Given the description of an element on the screen output the (x, y) to click on. 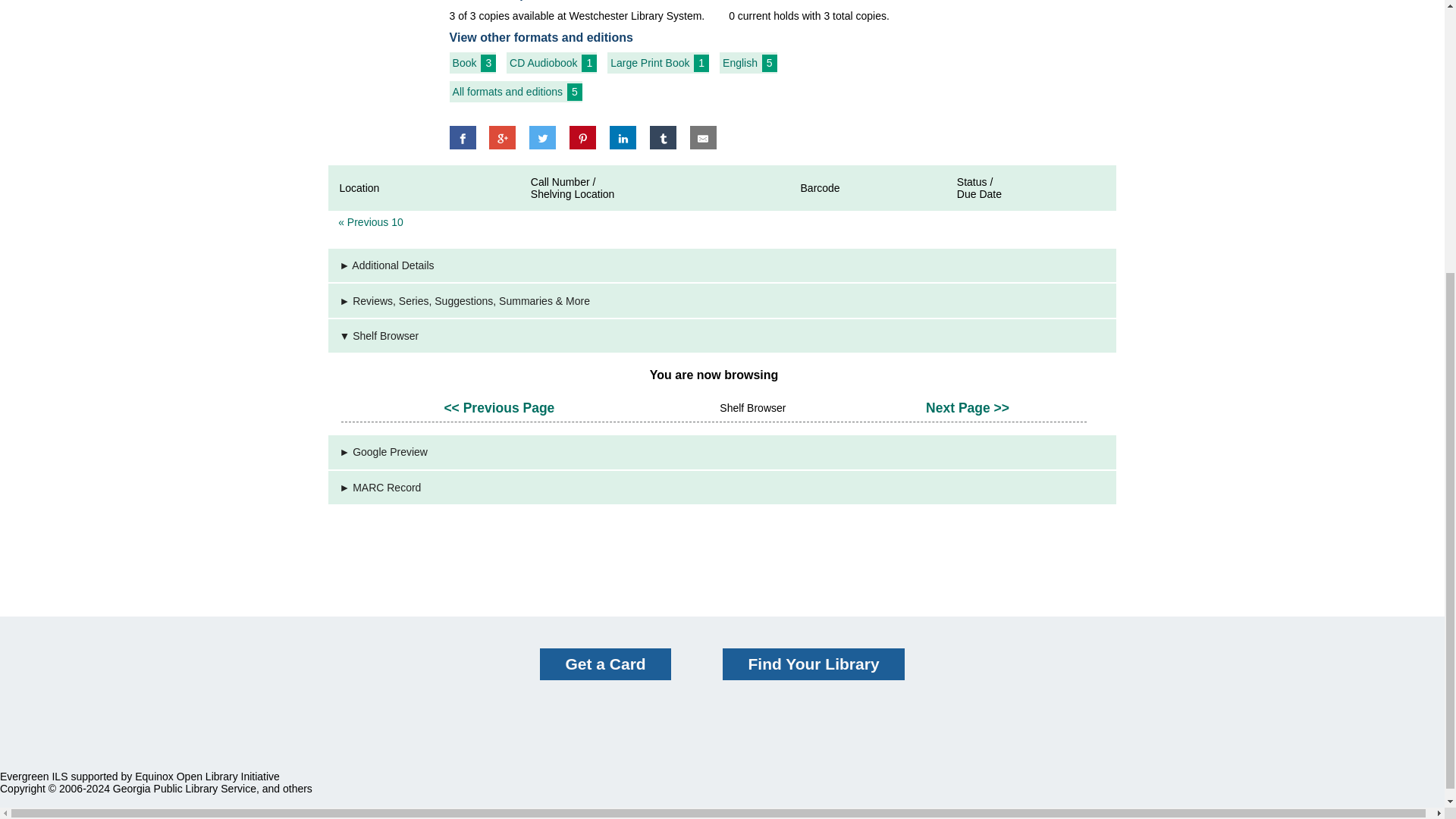
English (739, 62)
Large Print Book (649, 62)
All formats and editions (507, 91)
CD Audiobook (543, 62)
Book (465, 62)
